Given the description of an element on the screen output the (x, y) to click on. 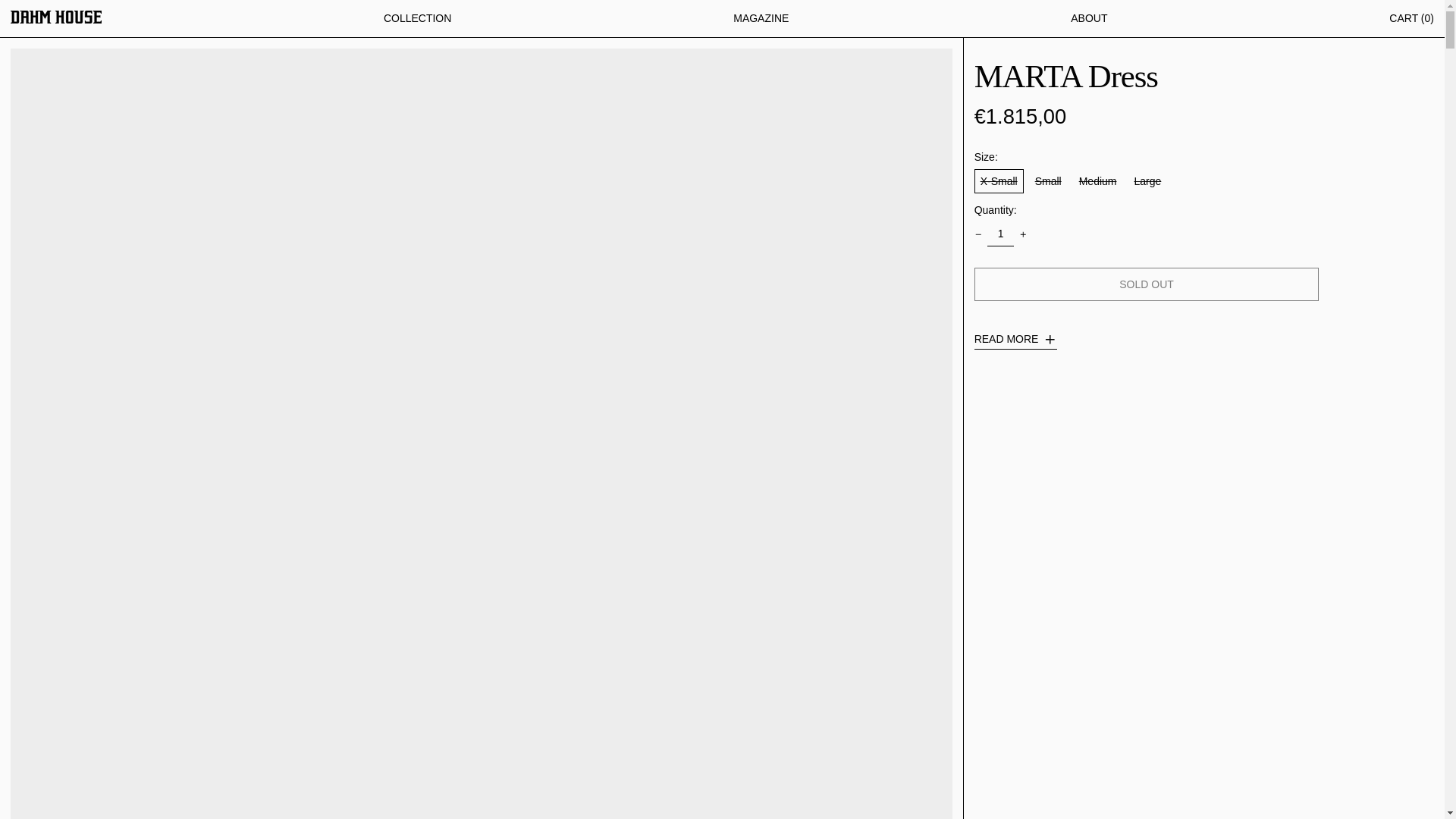
COLLECTION (417, 17)
Page 3 (1204, 335)
1 (1000, 233)
SOLD OUT (1146, 284)
ABOUT (1088, 17)
MAGAZINE (761, 17)
READ MORE (1015, 340)
